Given the description of an element on the screen output the (x, y) to click on. 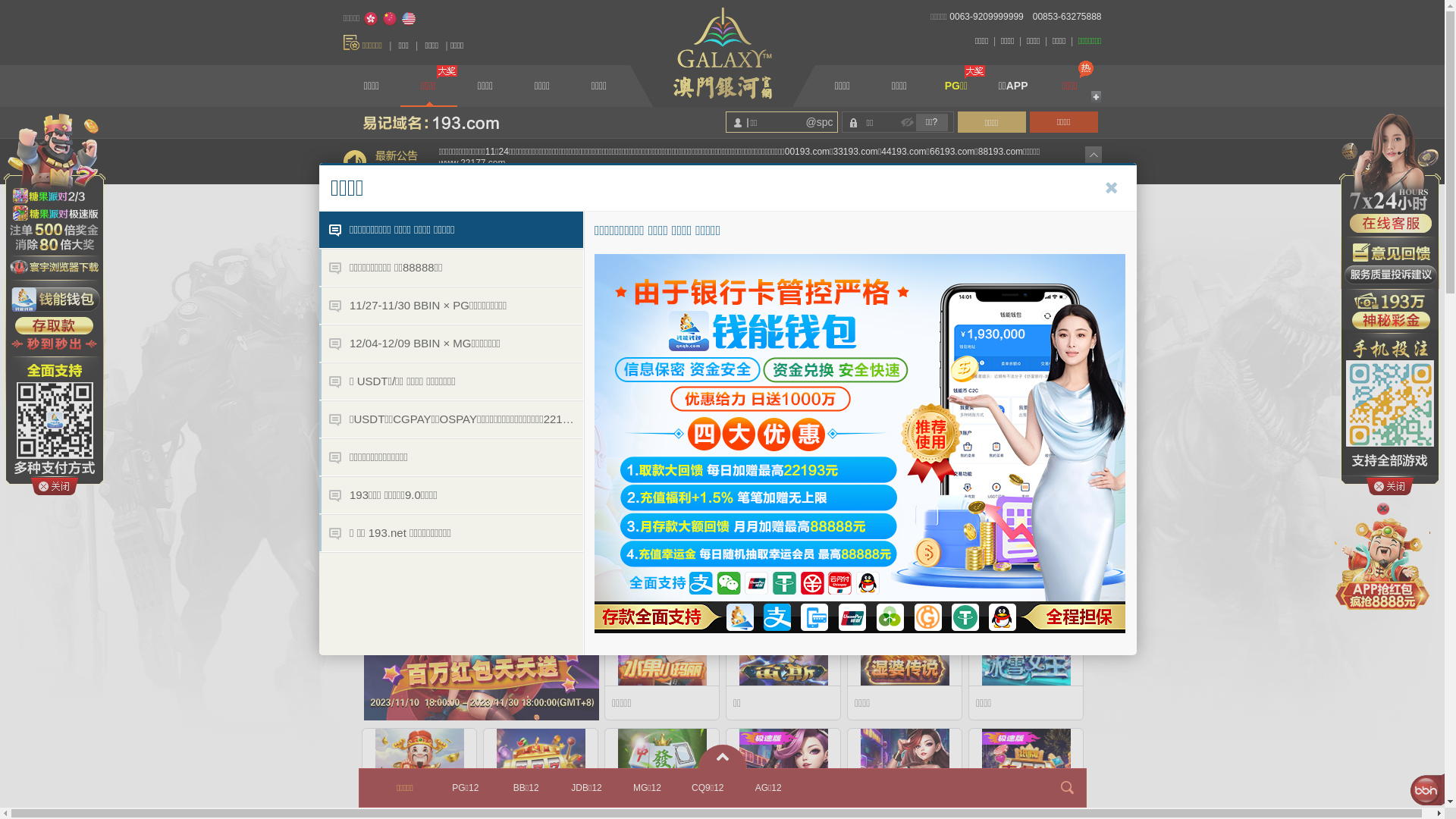
English Element type: hover (408, 18)
